Given the description of an element on the screen output the (x, y) to click on. 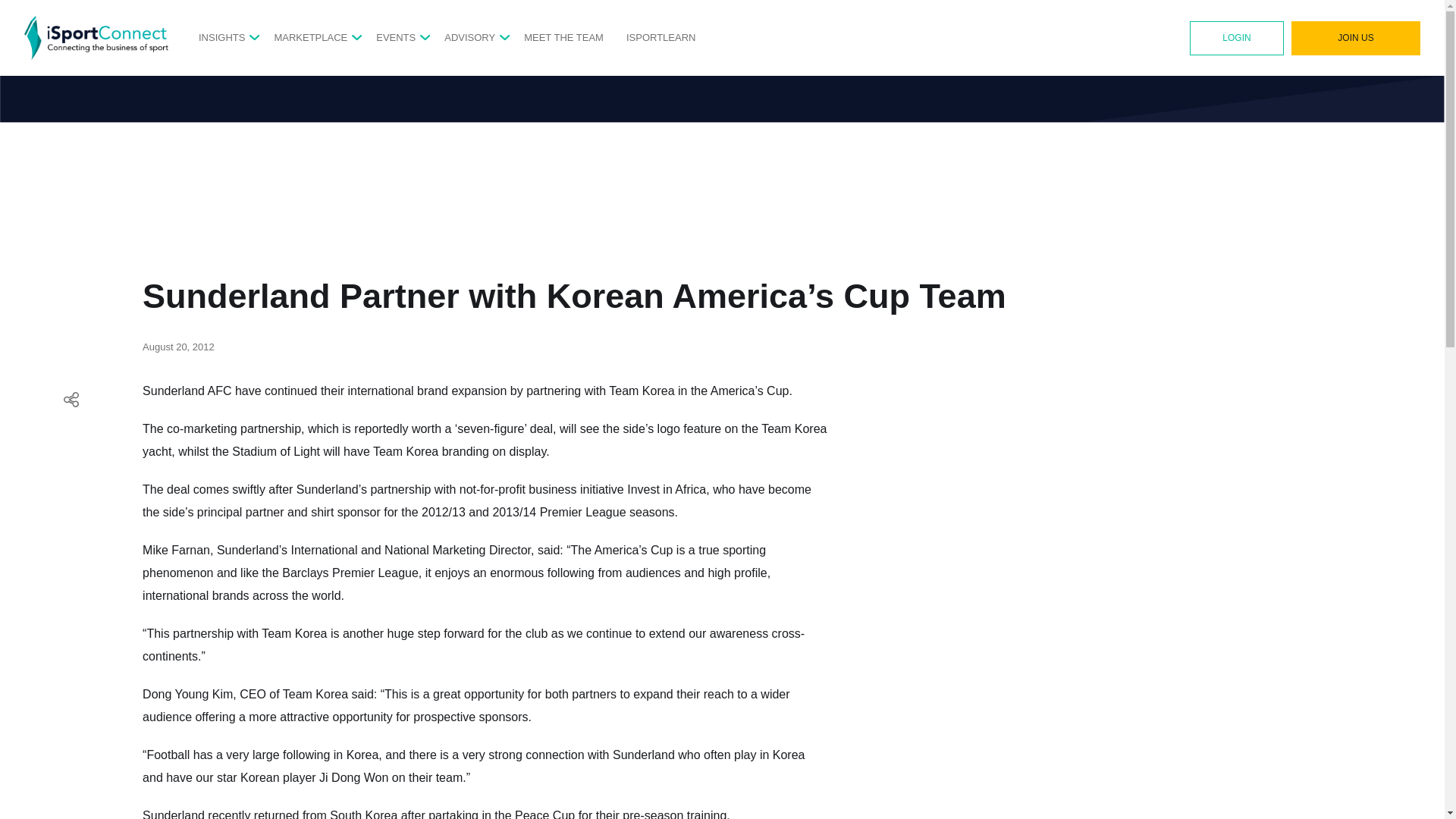
JOIN US (1356, 38)
MEET THE TEAM (564, 37)
LOGIN (1236, 38)
ADVISORY (469, 37)
EVENTS (394, 37)
ISPORTLEARN (660, 37)
MARKETPLACE (310, 37)
INSIGHTS (221, 37)
